Given the description of an element on the screen output the (x, y) to click on. 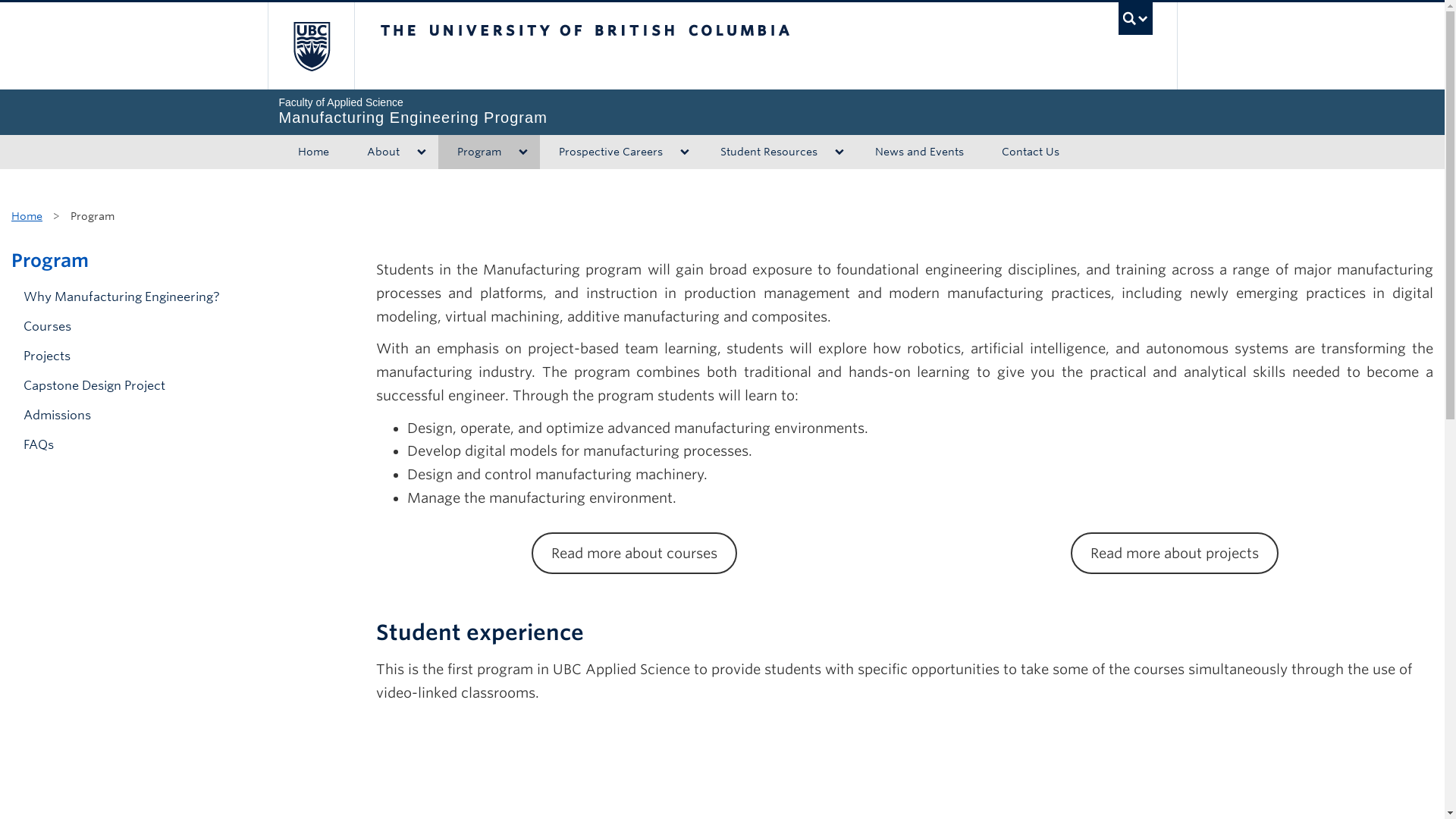
News and Events (722, 110)
Admissions (918, 151)
Program (175, 415)
Contact Us (49, 260)
Capstone Design Project (1030, 151)
UBC Search (175, 385)
Home (1135, 18)
Courses (26, 215)
Why Manufacturing Engineering? (175, 326)
